Given the description of an element on the screen output the (x, y) to click on. 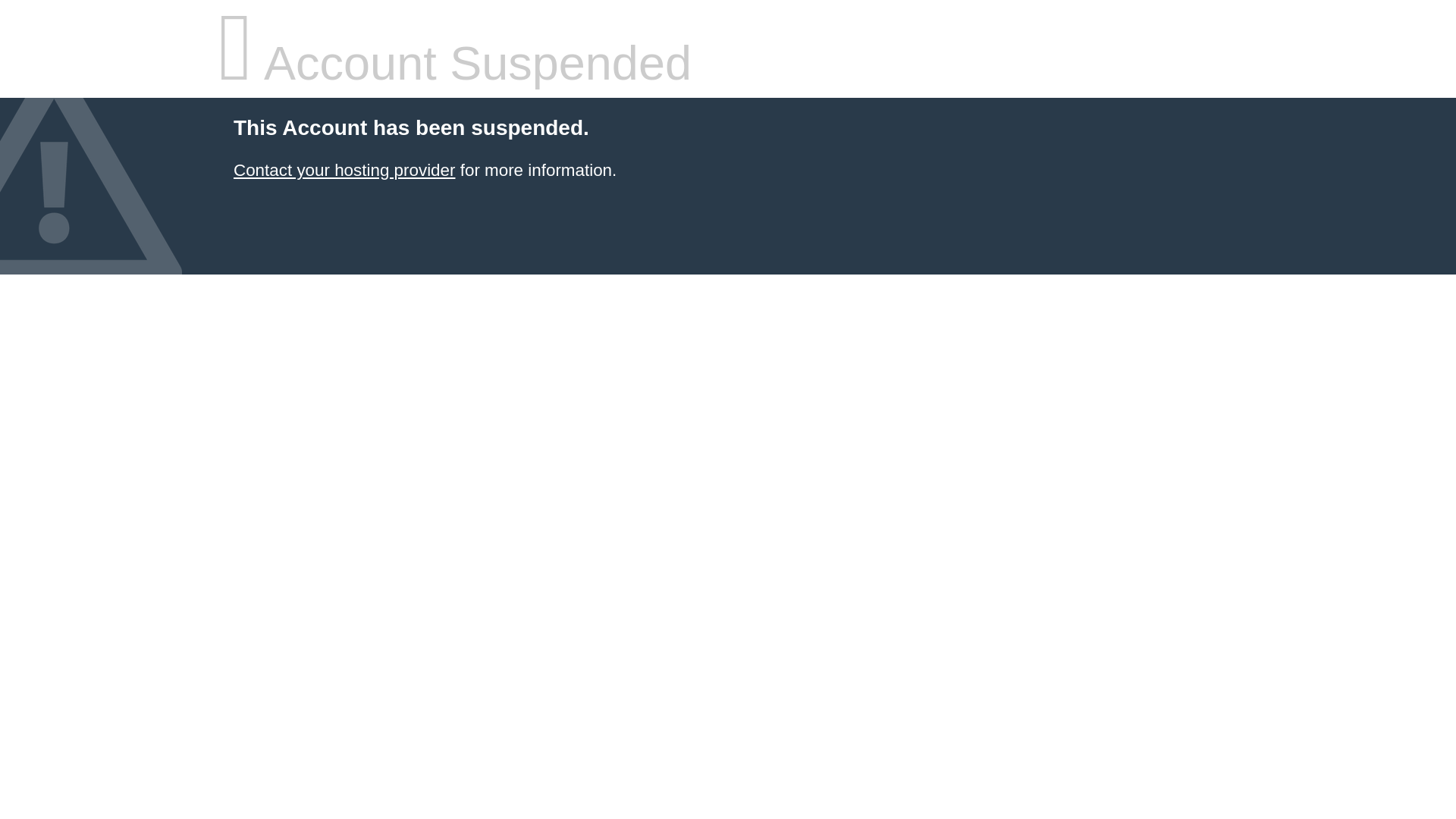
Contact your hosting provider (343, 169)
